Given the description of an element on the screen output the (x, y) to click on. 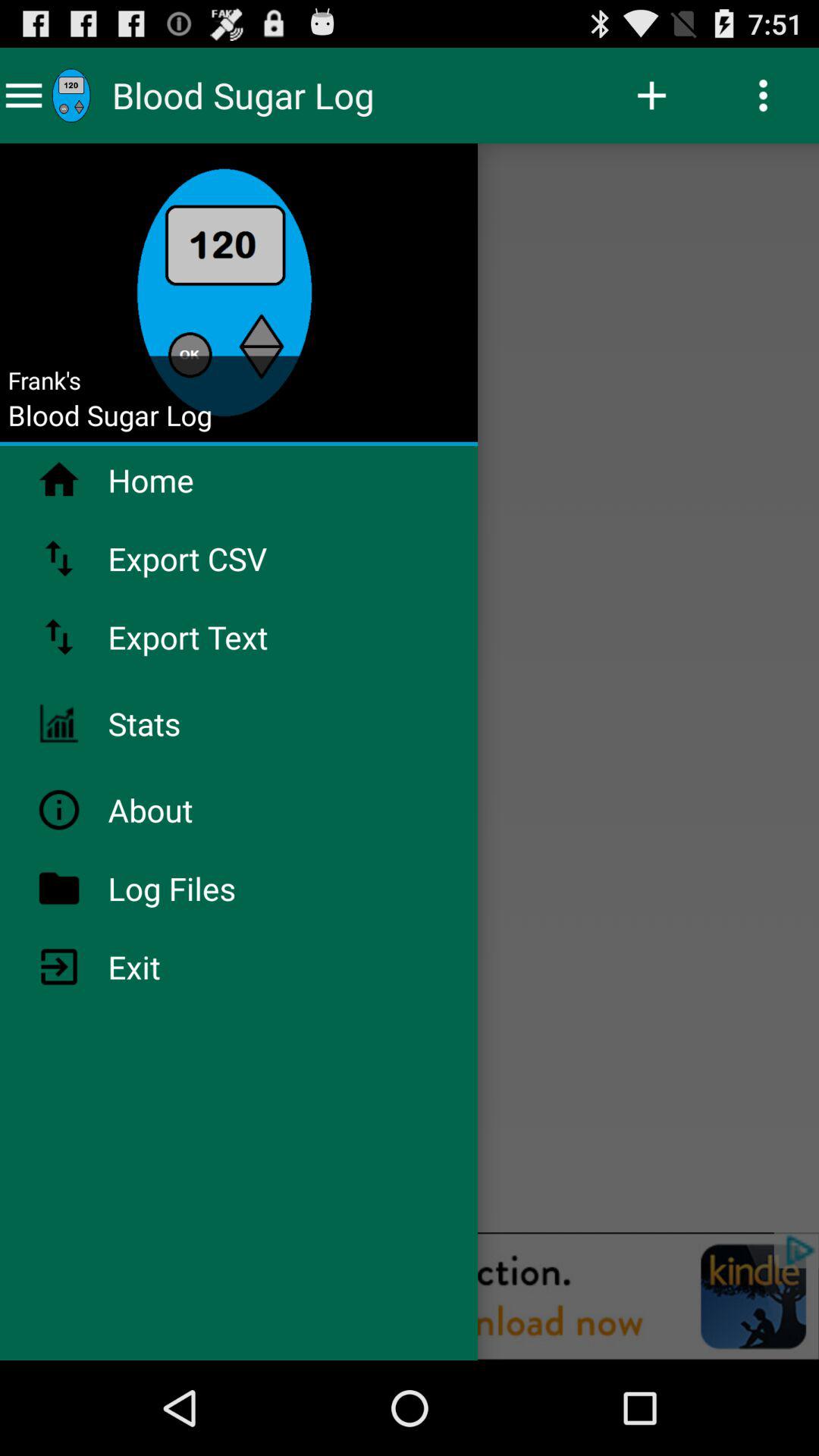
scroll to exit (174, 966)
